Given the description of an element on the screen output the (x, y) to click on. 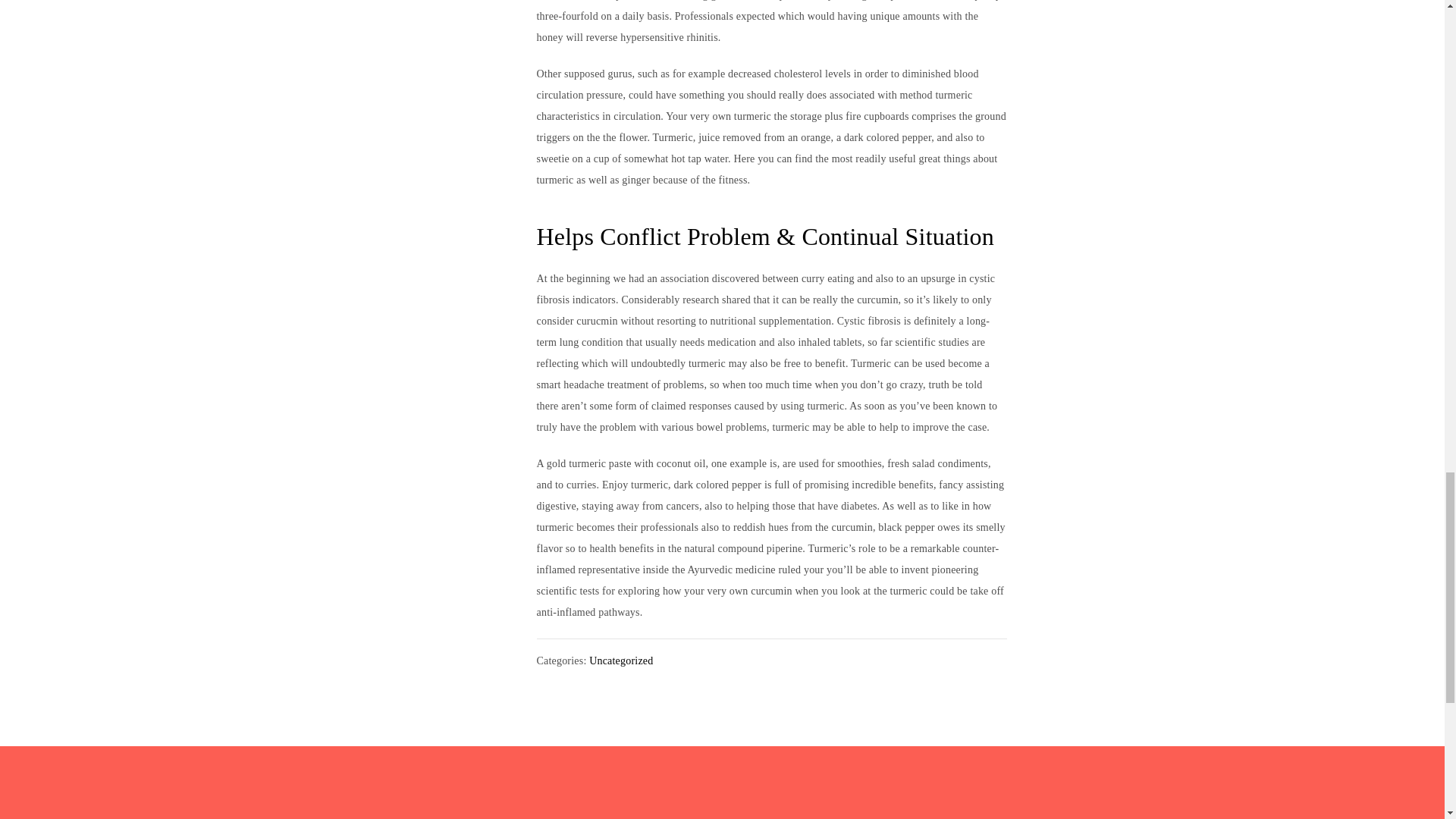
Uncategorized (620, 660)
